Given the description of an element on the screen output the (x, y) to click on. 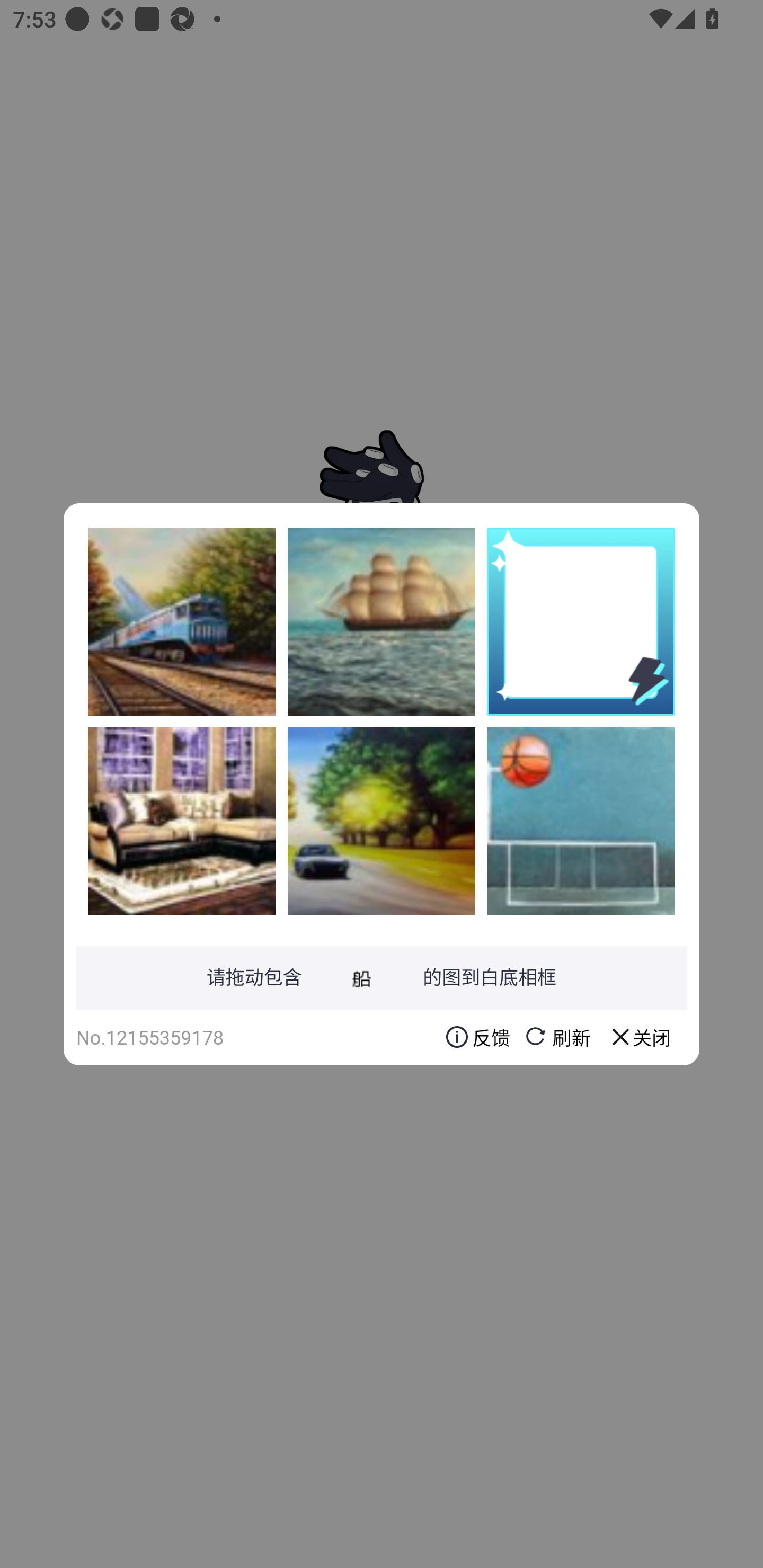
cXngLXeGnvNy4vHm73rvxo8xM7yP6cFsZh (181, 621)
B1X (381, 621)
cTYk0boll084Uzl4cL6Bs4v (381, 820)
